Given the description of an element on the screen output the (x, y) to click on. 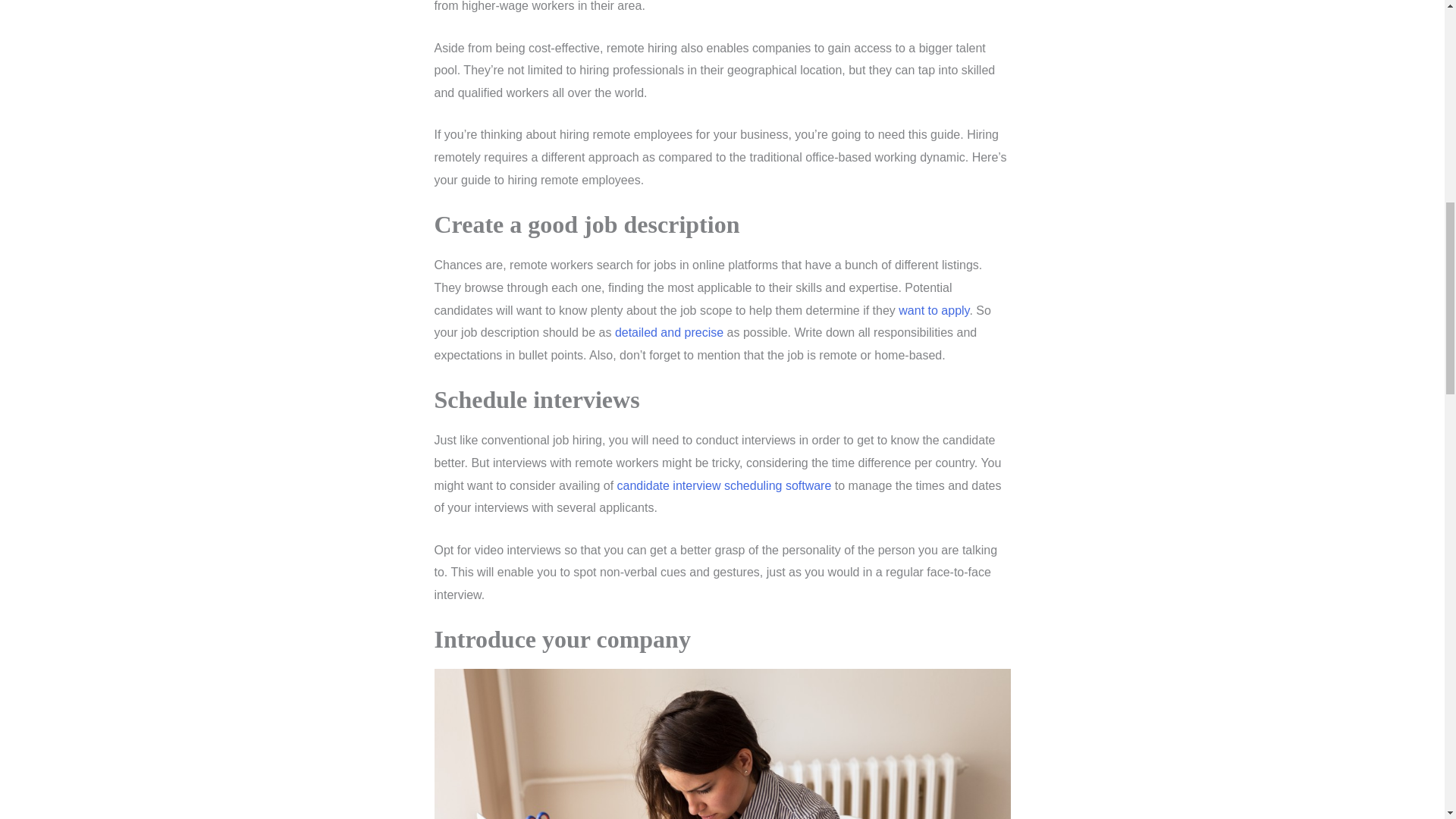
Remote Bliss (668, 332)
detailed and precise (668, 332)
candidate interview scheduling software (724, 485)
want to apply (933, 309)
SkillFuel (724, 485)
